Given the description of an element on the screen output the (x, y) to click on. 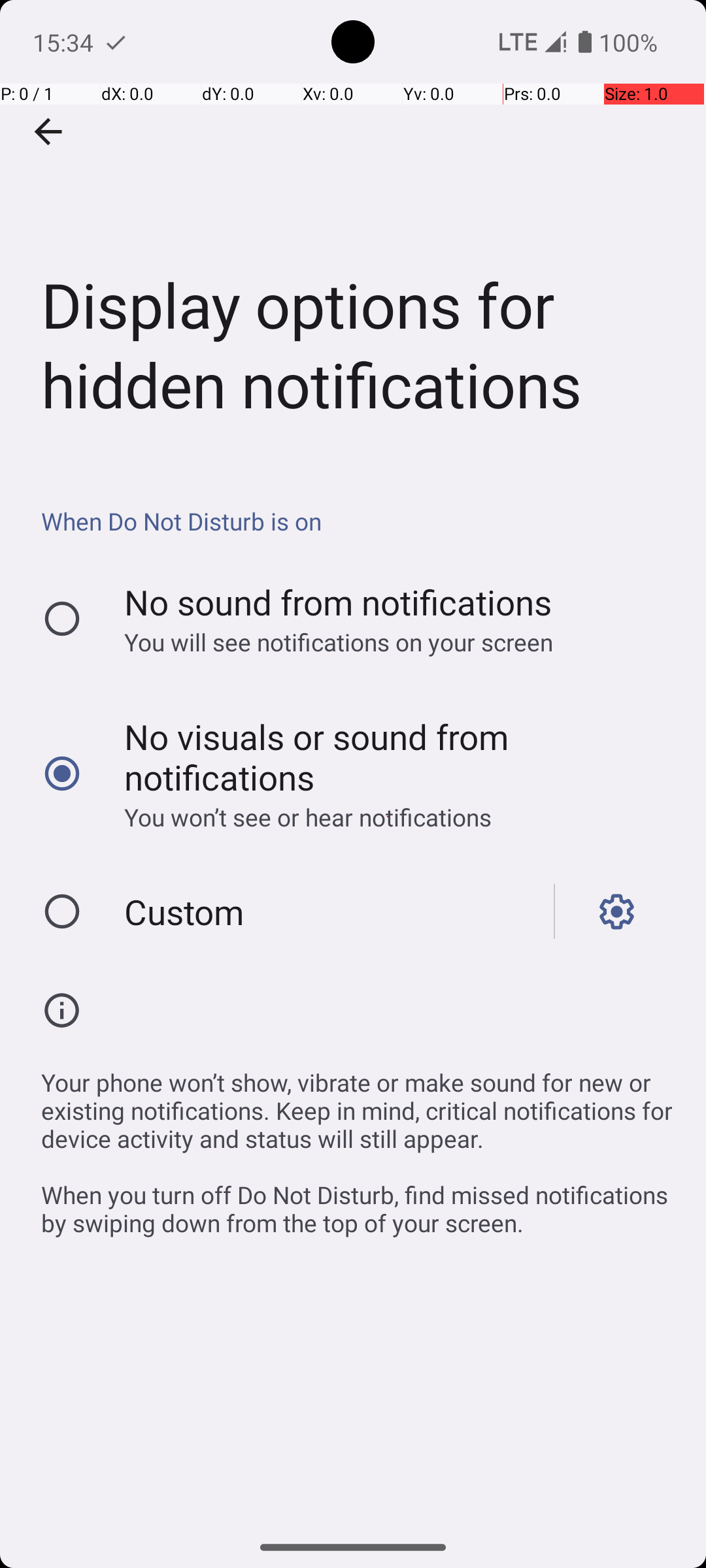
Display options for hidden notifications Element type: android.widget.FrameLayout (353, 231)
When Do Not Disturb is on Element type: android.widget.TextView (359, 520)
No sound from notifications Element type: android.widget.TextView (338, 601)
You will see notifications on your screen Element type: android.widget.TextView (387, 641)
No visuals or sound from notifications Element type: android.widget.TextView (387, 756)
You won’t see or hear notifications Element type: android.widget.TextView (387, 816)
Your phone won’t show, vibrate or make sound for new or existing notifications. Keep in mind, critical notifications for device activity and status will still appear.

When you turn off Do Not Disturb, find missed notifications by swiping down from the top of your screen. Element type: android.widget.TextView (359, 1145)
